Given the description of an element on the screen output the (x, y) to click on. 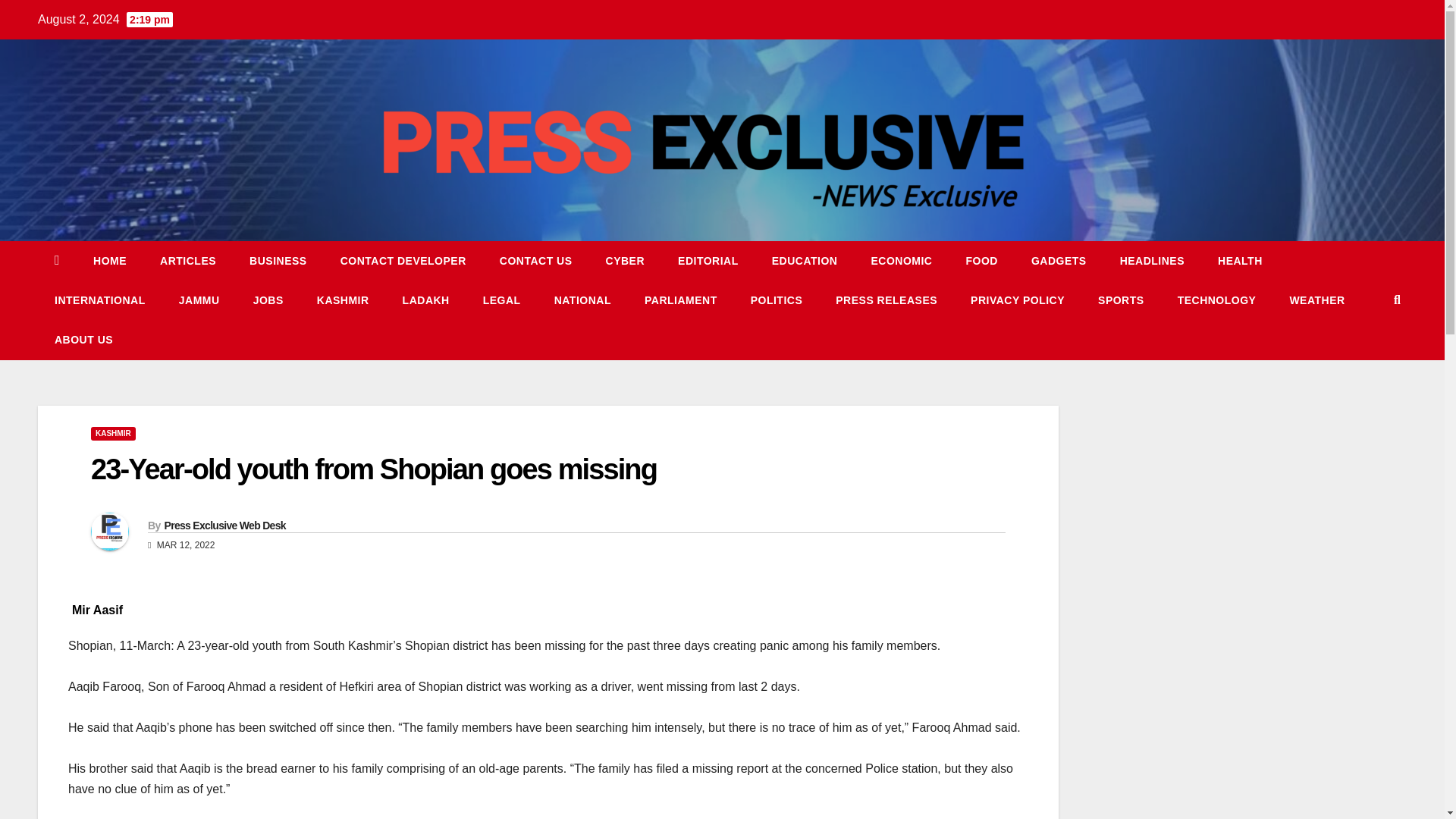
KASHMIR (342, 300)
JOBS (267, 300)
International (99, 300)
EDITORIAL (708, 260)
Contact Developer (403, 260)
Business (277, 260)
Headlines (1152, 260)
Jammu (198, 300)
TECHNOLOGY (1216, 300)
Cyber (625, 260)
